Given the description of an element on the screen output the (x, y) to click on. 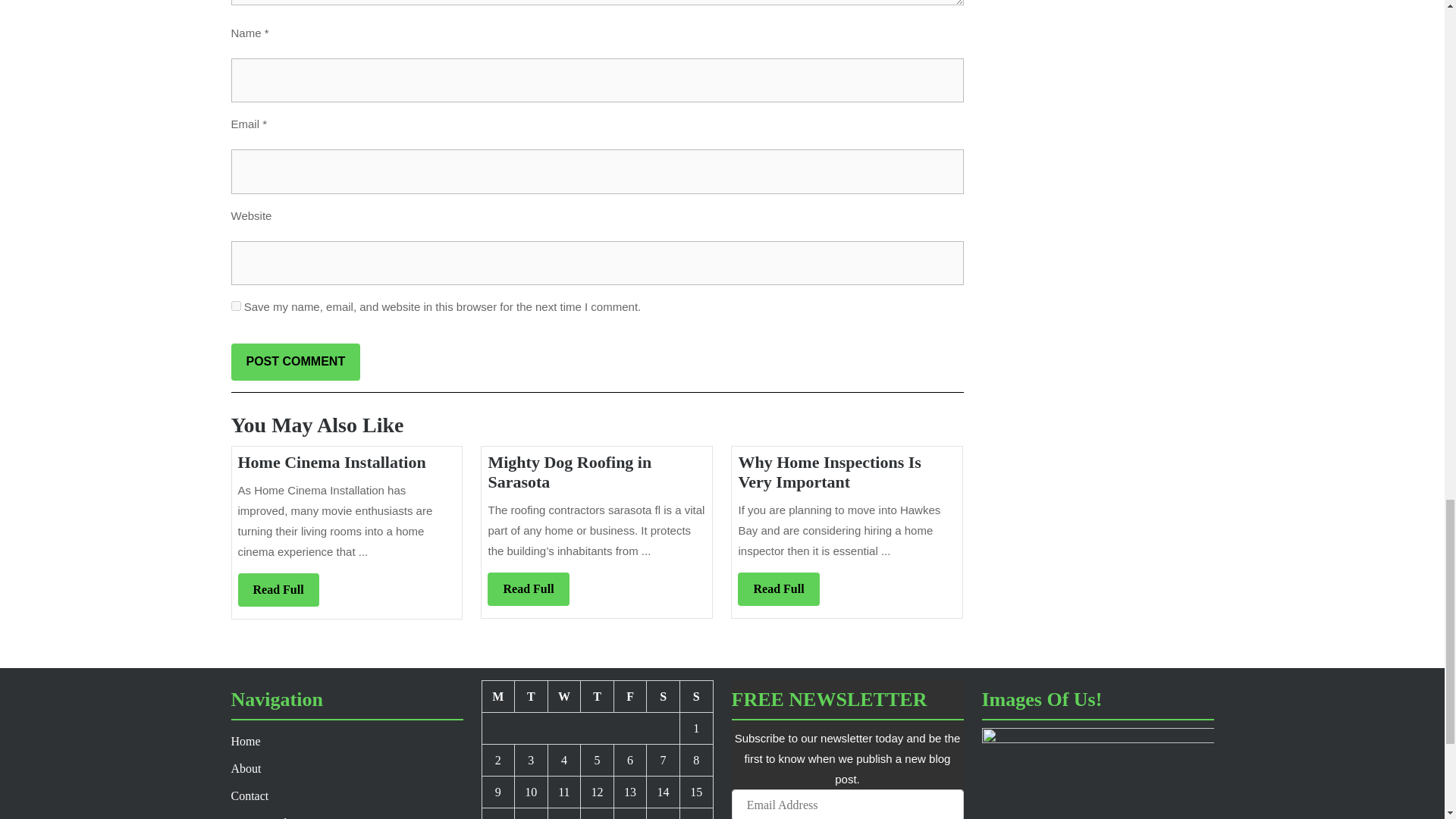
Thursday (597, 696)
Wednesday (564, 696)
Tuesday (531, 696)
yes (235, 306)
Friday (630, 696)
